Given the description of an element on the screen output the (x, y) to click on. 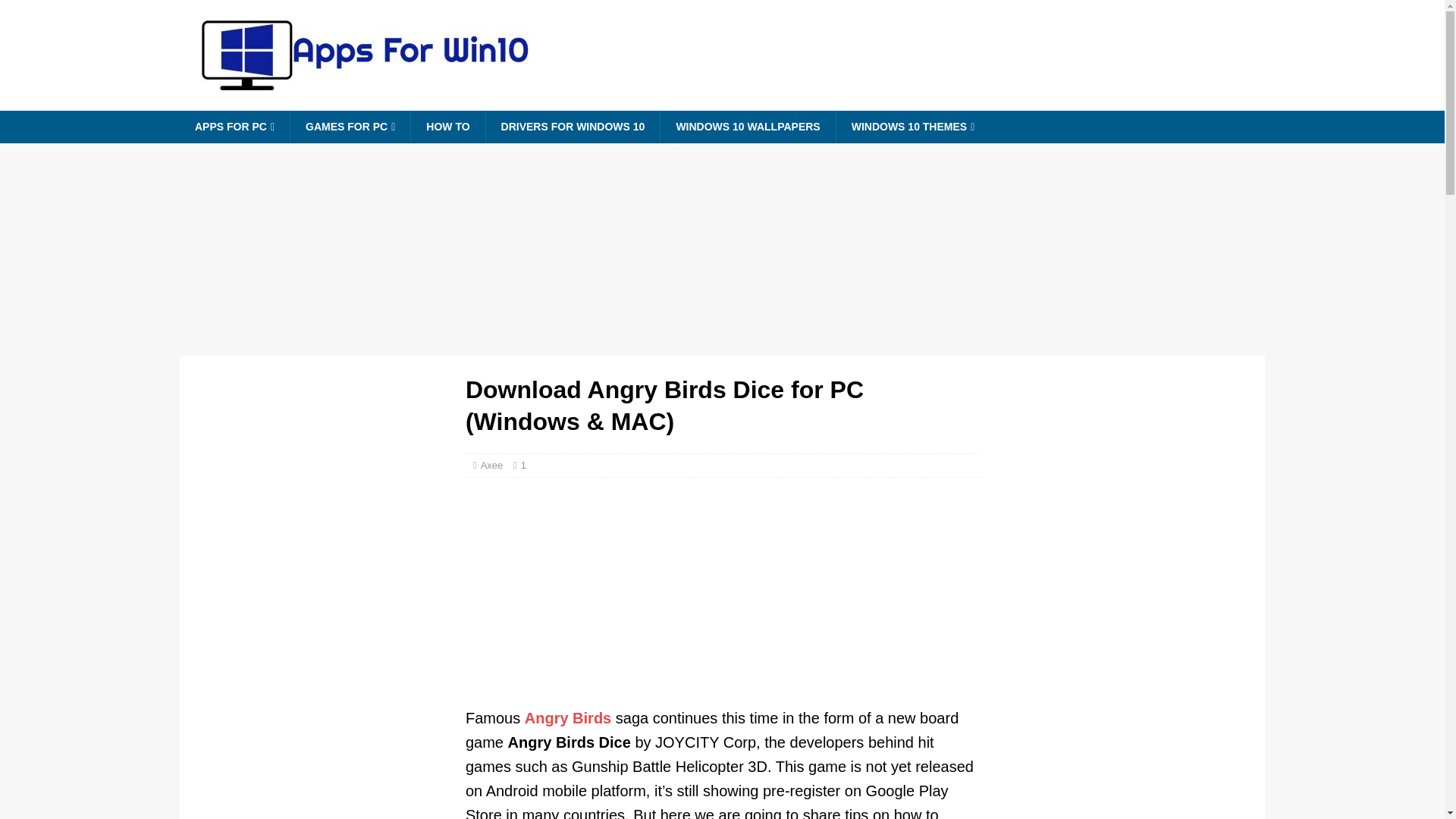
Axee (491, 464)
Advertisement (321, 707)
Advertisement (722, 599)
Advertisement (1122, 707)
APPS FOR PC (234, 126)
Angry Birds (567, 718)
GAMES FOR PC (349, 126)
DRIVERS FOR WINDOWS 10 (572, 126)
WINDOWS 10 THEMES (912, 126)
